Given the description of an element on the screen output the (x, y) to click on. 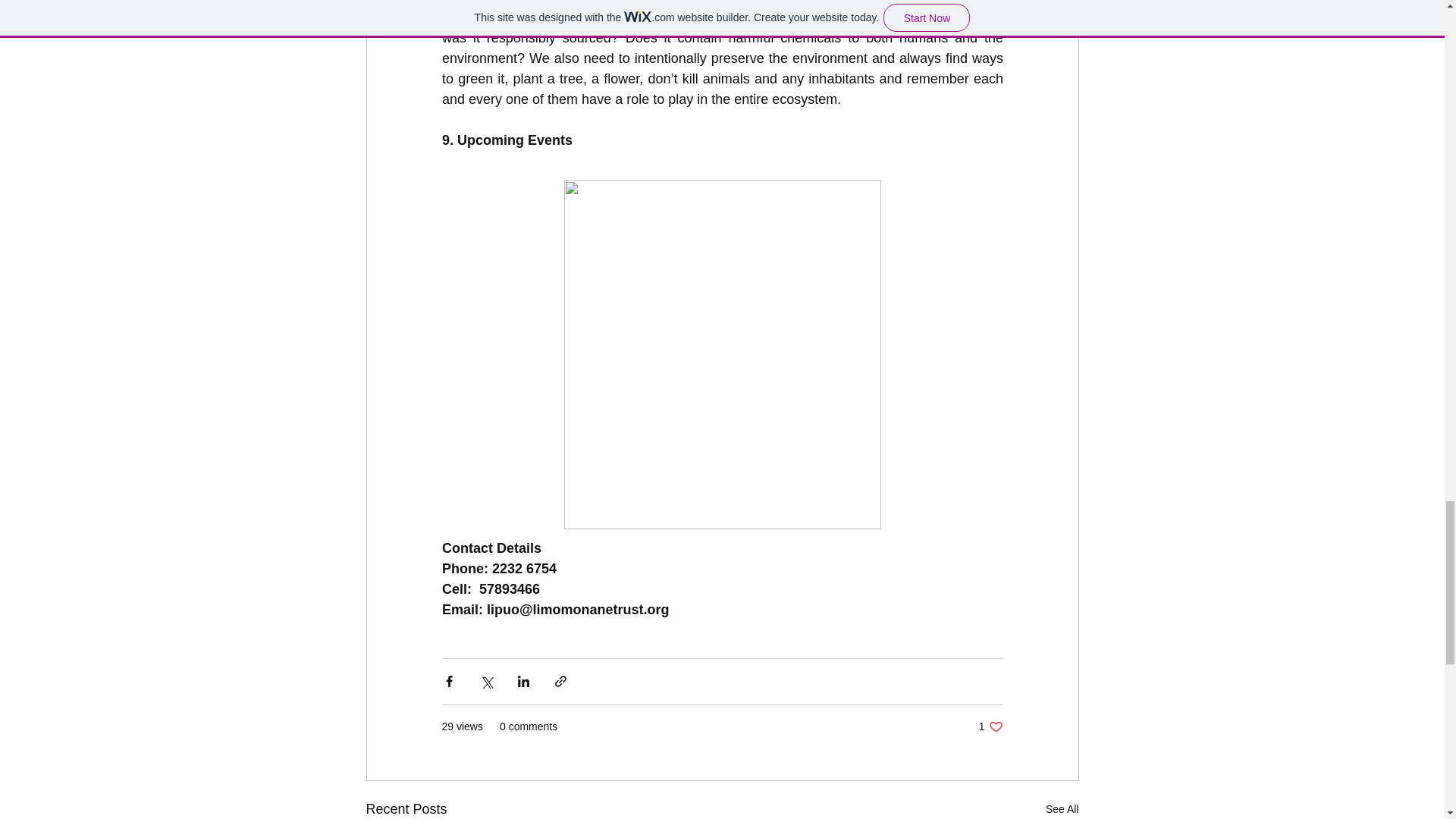
See All (1061, 808)
